Given the description of an element on the screen output the (x, y) to click on. 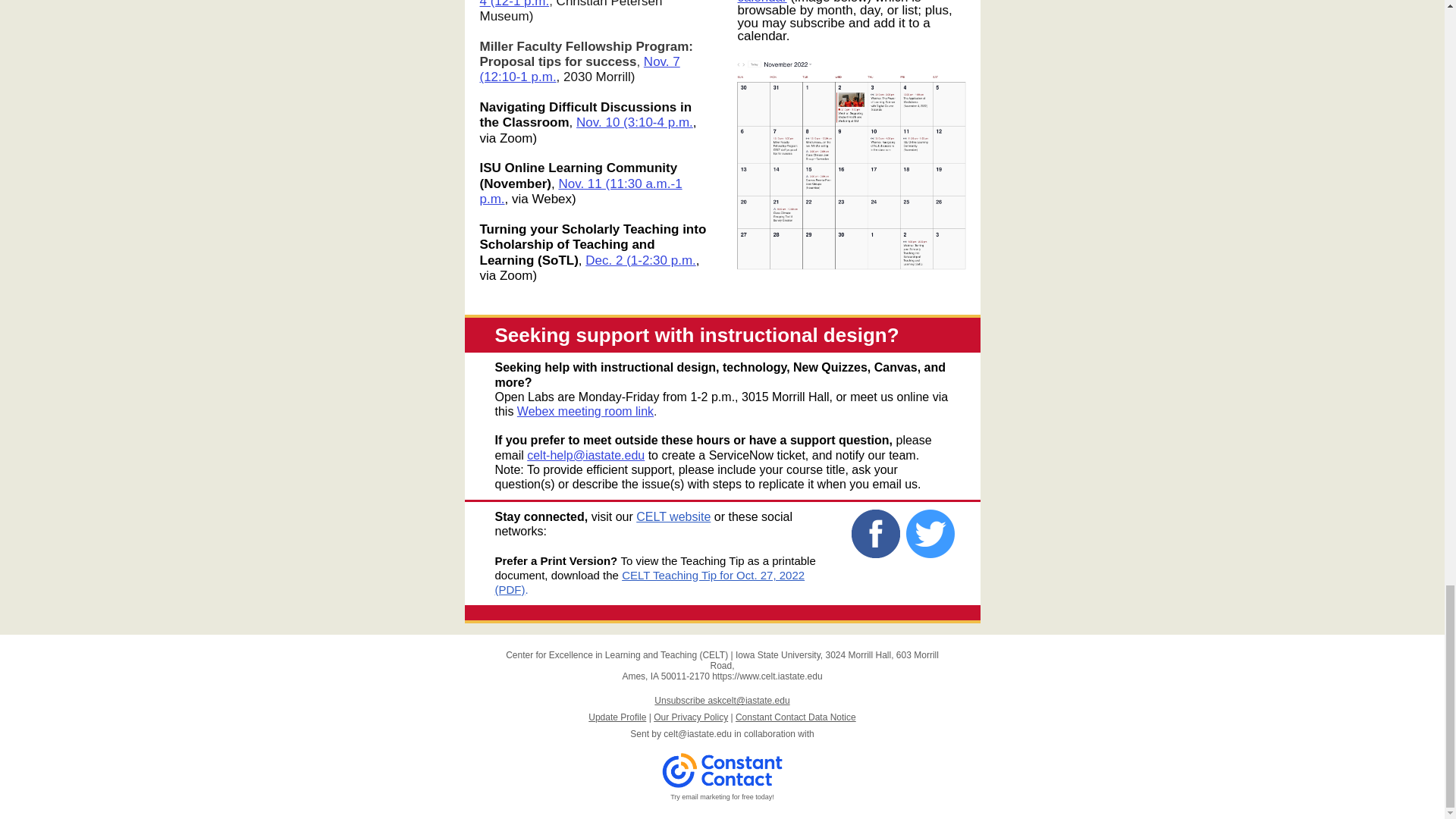
Try email marketing for free today! (721, 796)
Update Profile (617, 716)
new CELT Event calendar (819, 2)
Constant Contact Data Notice (795, 716)
CELT website (673, 516)
Webex meeting room link (584, 410)
Our Privacy Policy (690, 716)
